Given the description of an element on the screen output the (x, y) to click on. 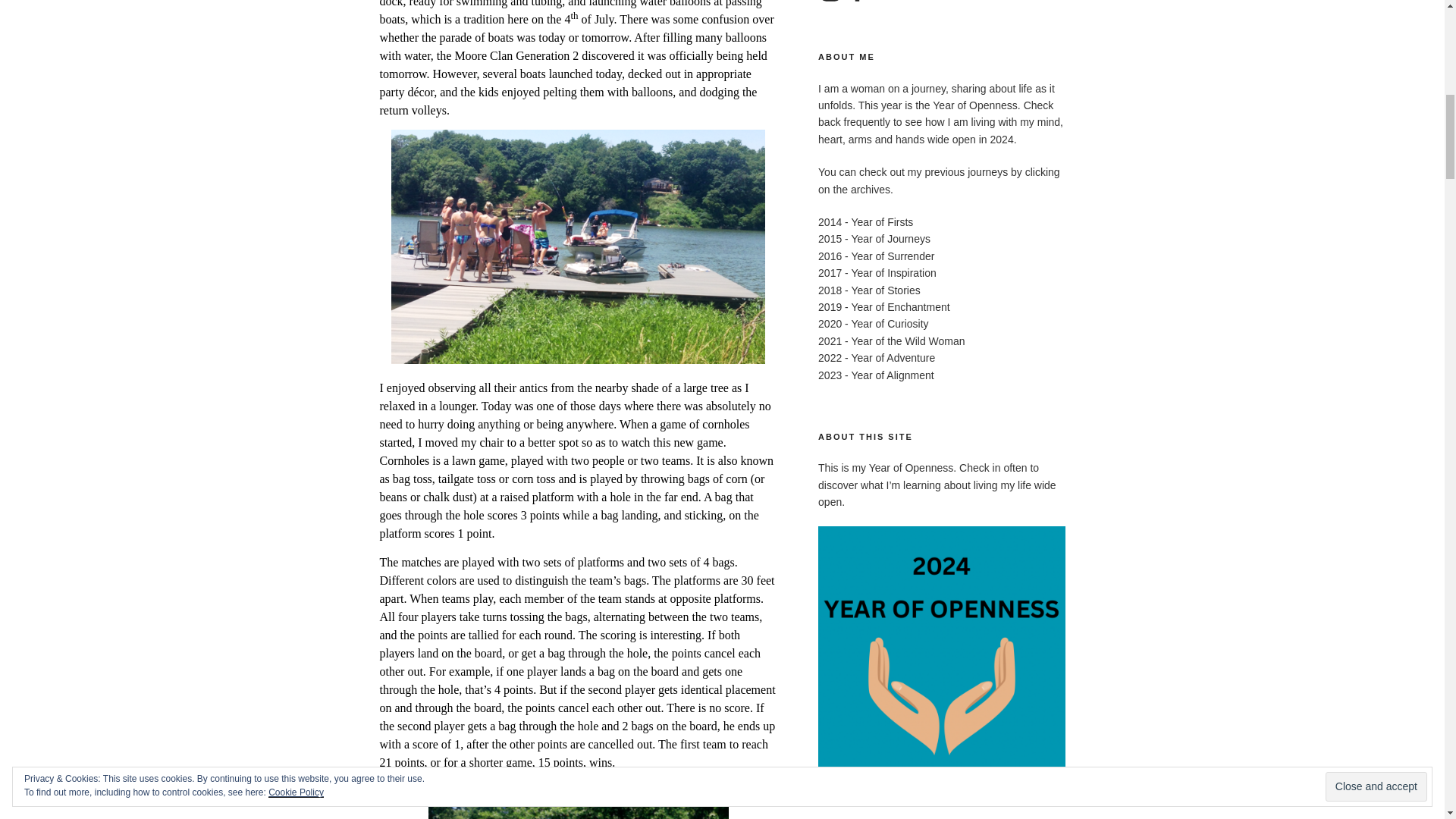
Facebook (857, 2)
Instagram (830, 2)
